Given the description of an element on the screen output the (x, y) to click on. 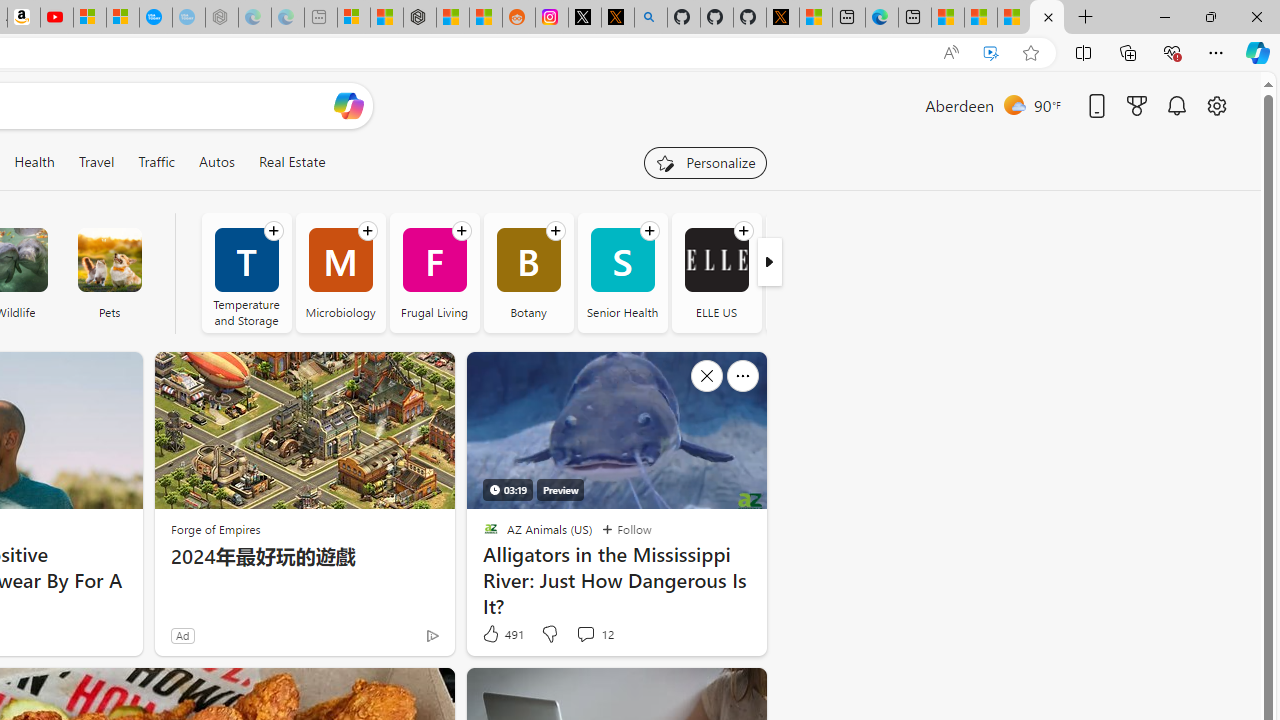
Welcome to Microsoft Edge (882, 17)
X Privacy Policy (782, 17)
Enhance video (991, 53)
Microbiology (340, 272)
491 Like (502, 633)
Pets (109, 272)
